Given the description of an element on the screen output the (x, y) to click on. 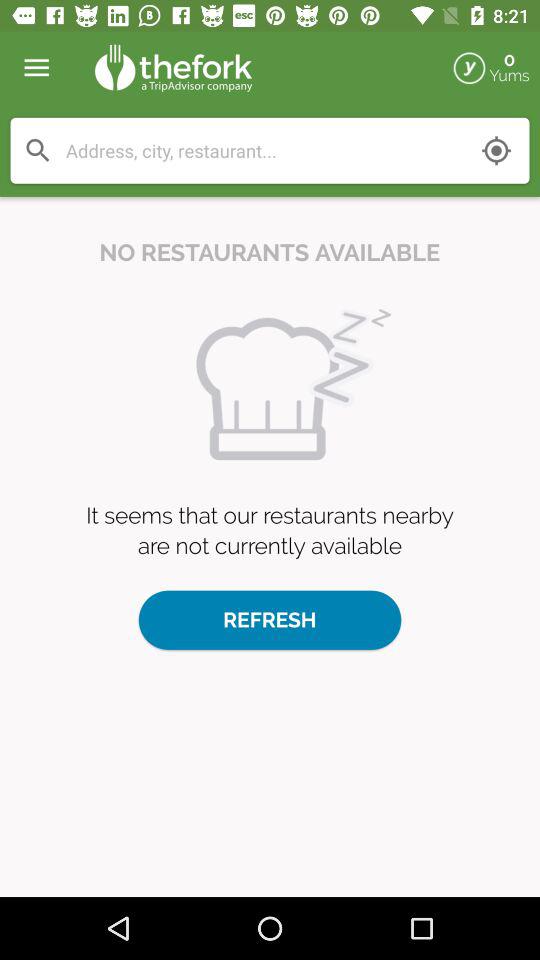
search (38, 150)
